Given the description of an element on the screen output the (x, y) to click on. 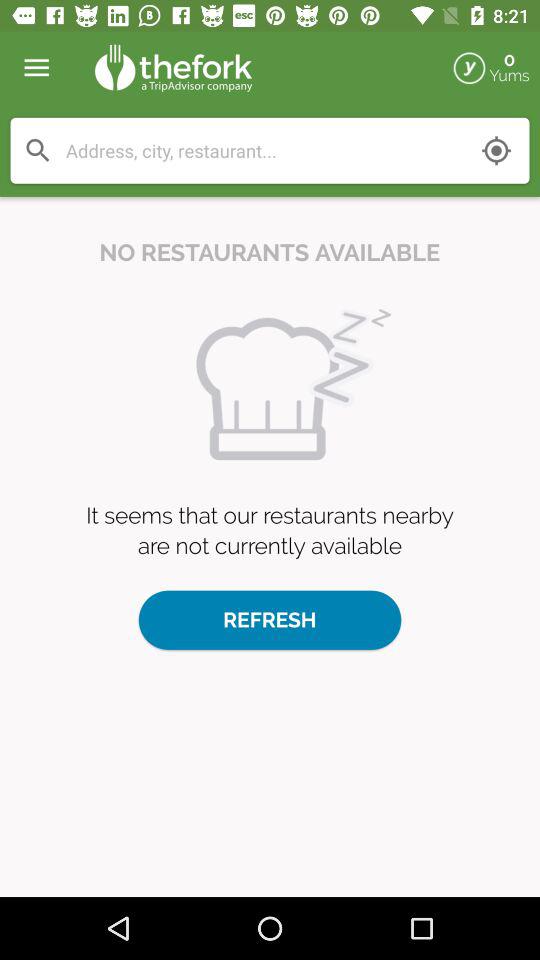
search (38, 150)
